Given the description of an element on the screen output the (x, y) to click on. 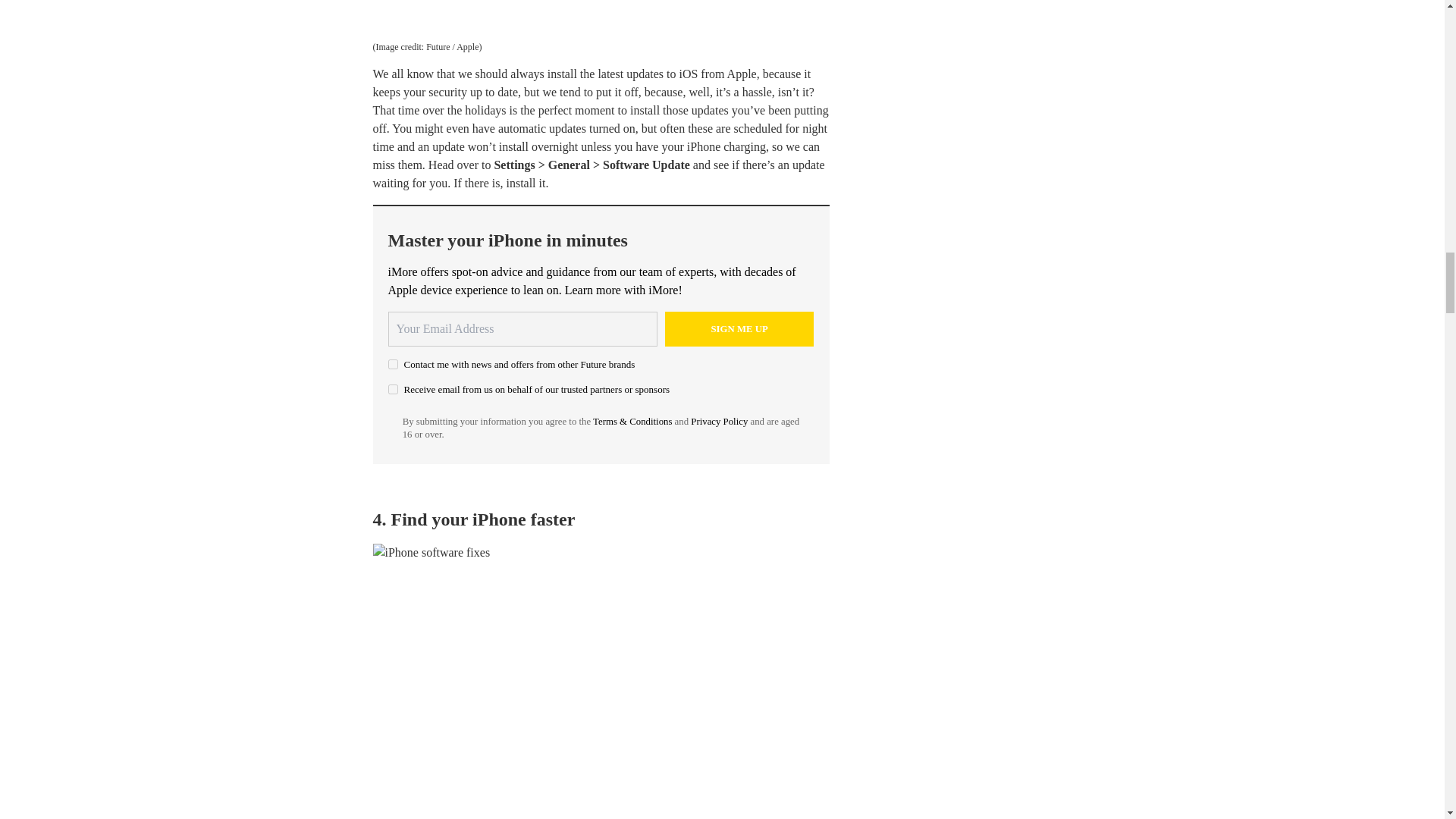
on (392, 388)
Sign me up (739, 329)
on (392, 364)
